Given the description of an element on the screen output the (x, y) to click on. 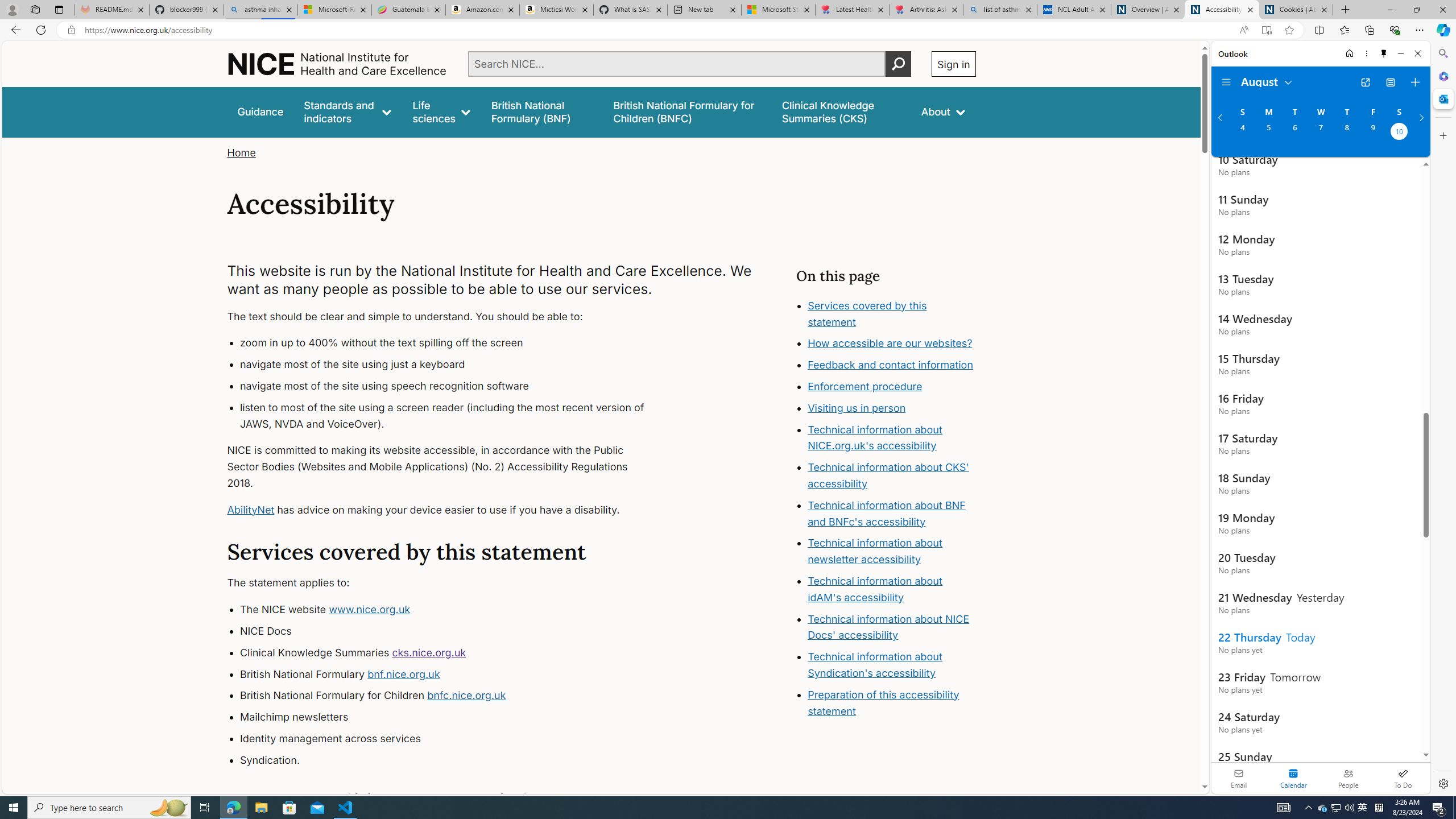
Tuesday, August 6, 2024.  (1294, 132)
How accessible are our websites? (891, 343)
Enforcement procedure (865, 386)
